Given the description of an element on the screen output the (x, y) to click on. 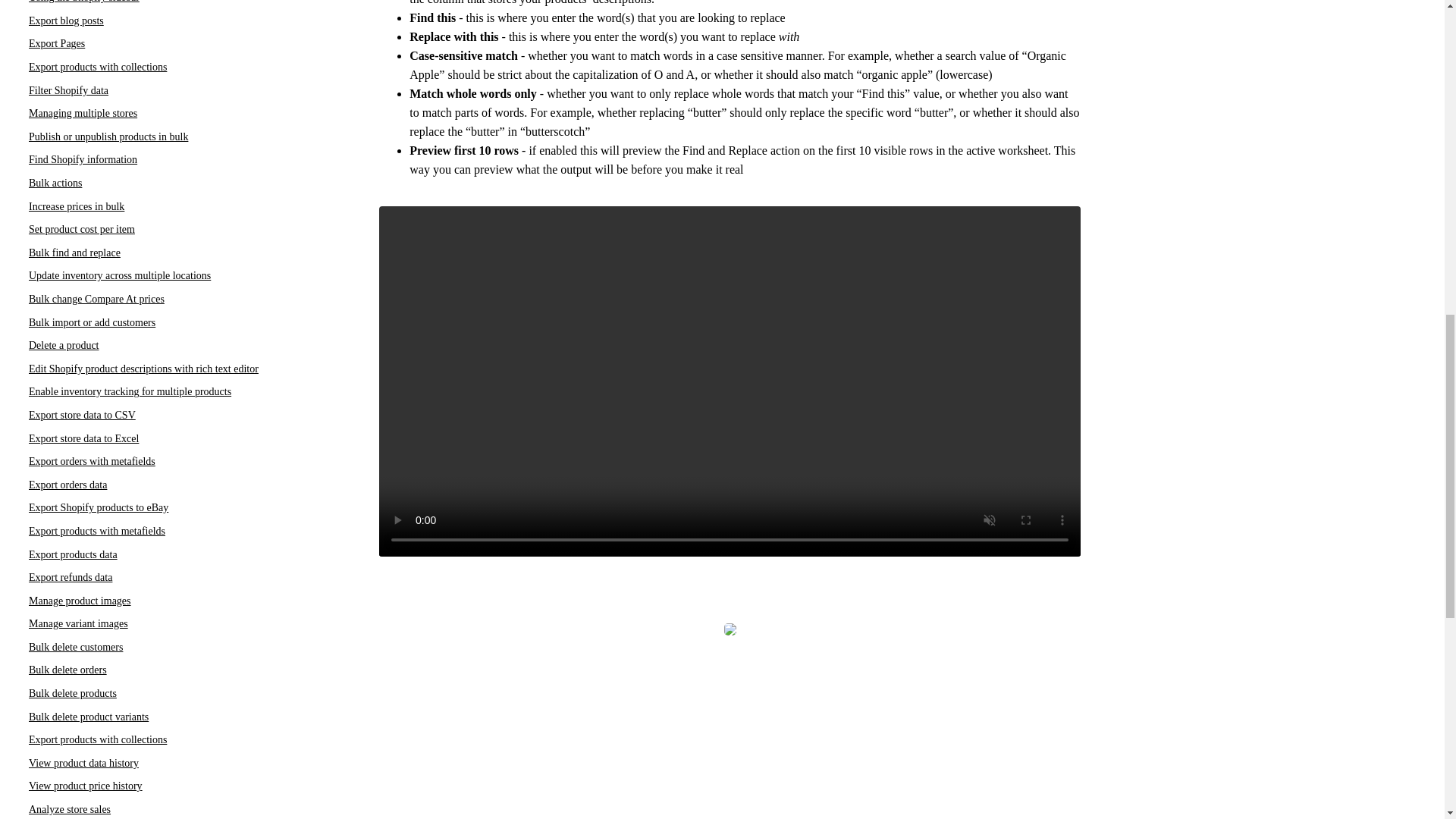
Export products with collections (98, 66)
Using the Shopify sidebar (84, 1)
Export blog posts (66, 20)
Export Pages (56, 43)
Managing multiple stores (82, 112)
Filter Shopify data (68, 90)
Publish or unpublish products in bulk (108, 136)
Find Shopify information (82, 159)
